Given the description of an element on the screen output the (x, y) to click on. 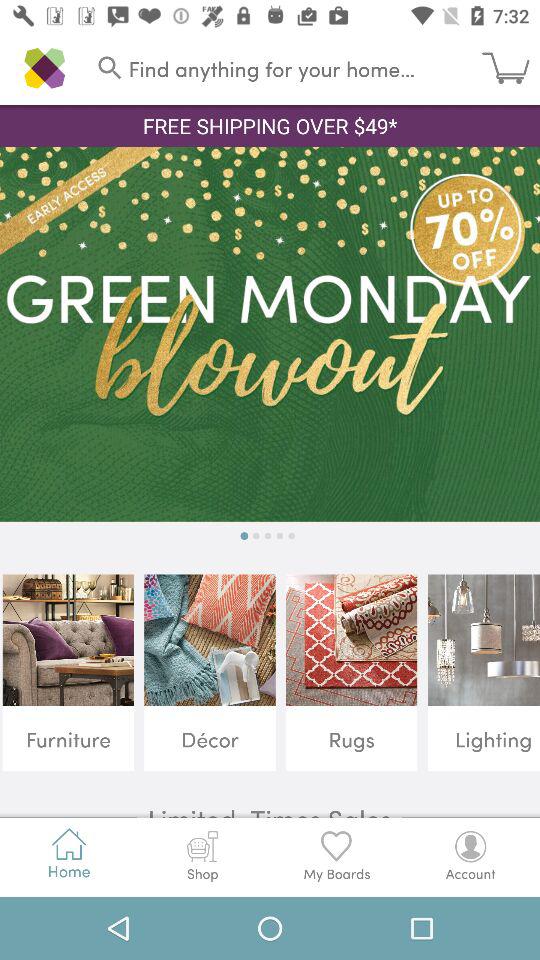
select this area (270, 334)
